Given the description of an element on the screen output the (x, y) to click on. 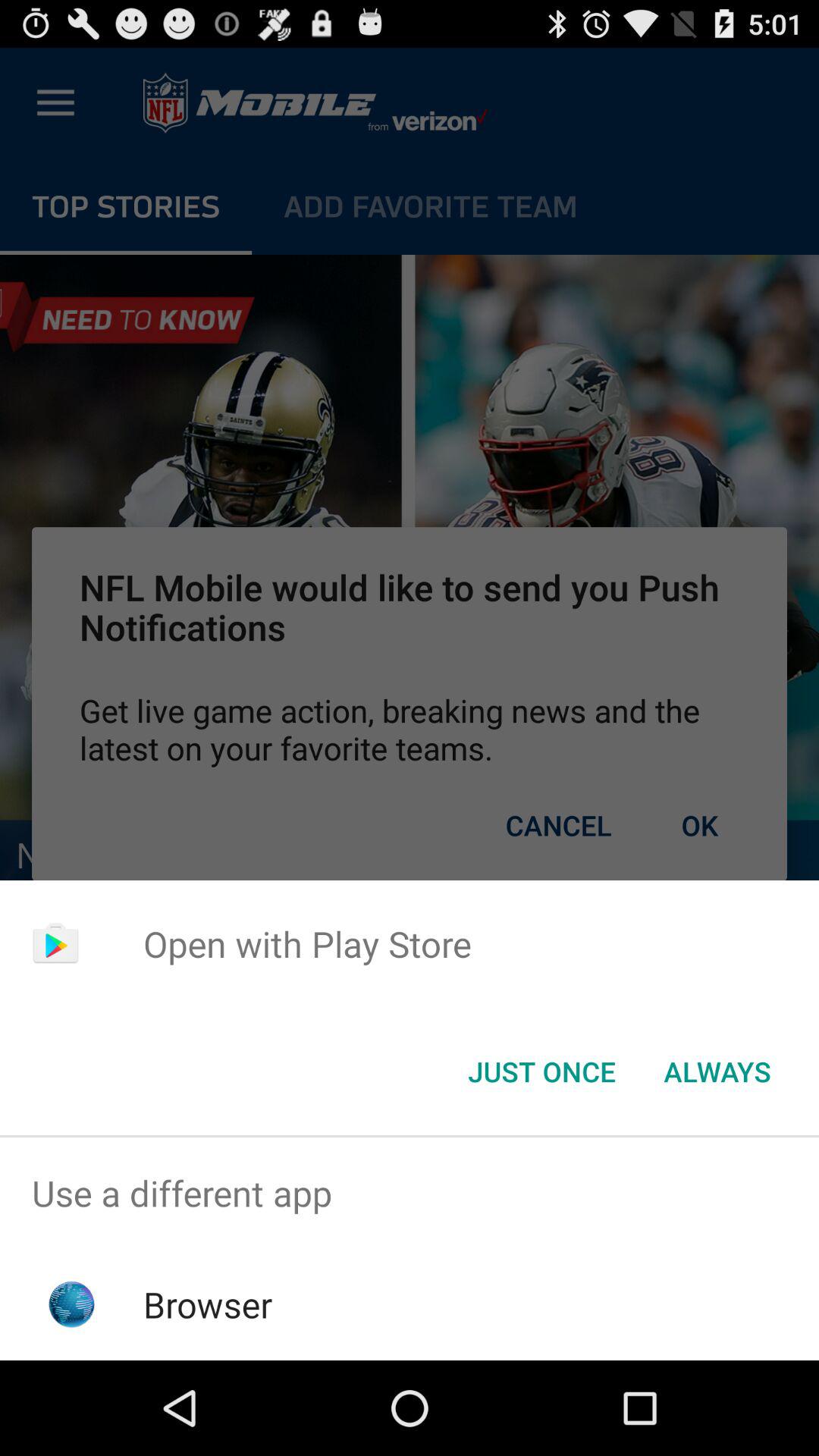
tap the item above browser (409, 1192)
